Given the description of an element on the screen output the (x, y) to click on. 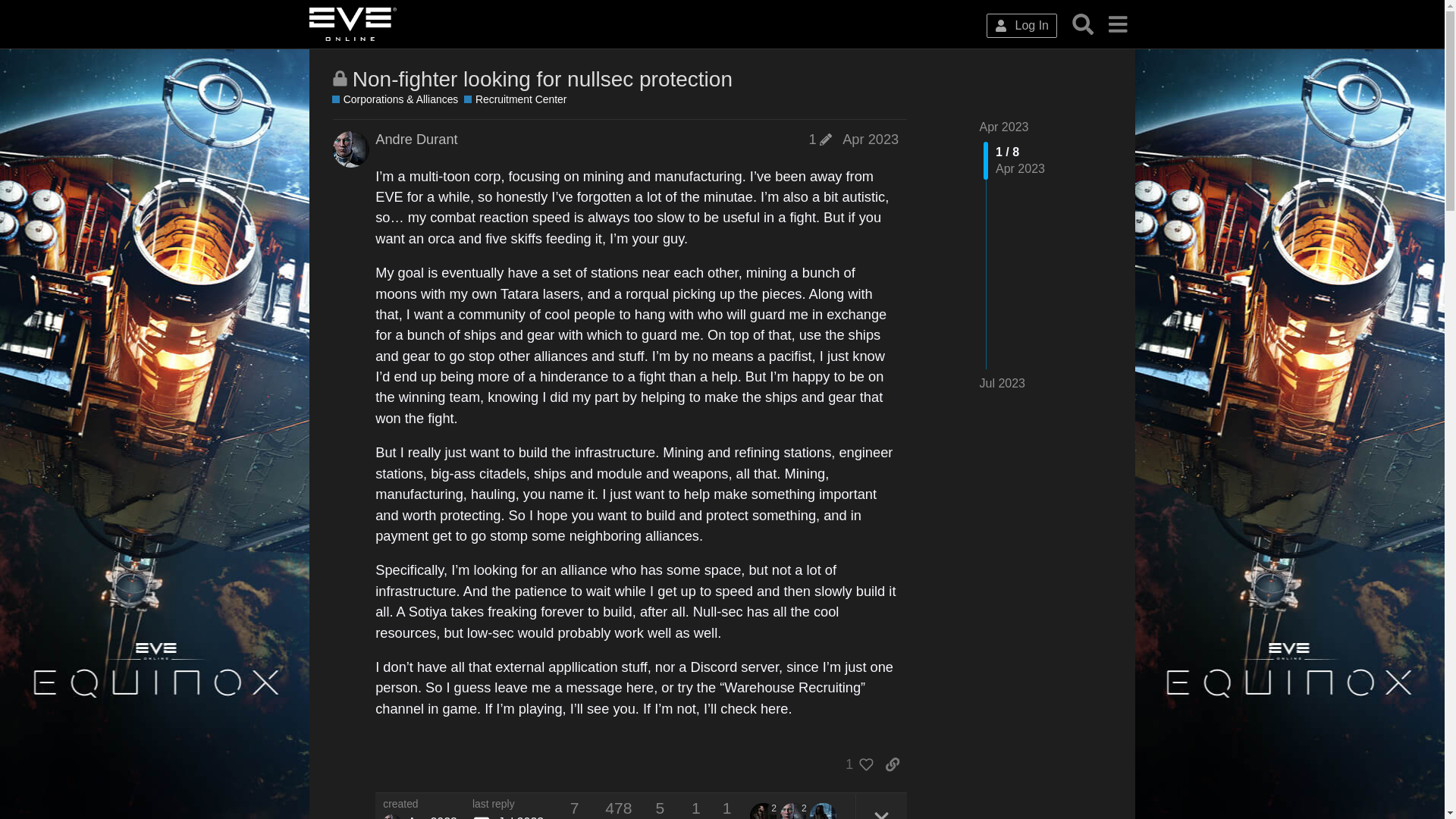
Apr 2023 (1004, 126)
Apr 2023 (870, 139)
menu (1117, 23)
Non-fighter looking for nullsec protection (542, 78)
1 (855, 764)
last reply (507, 804)
Jump to the last post (1002, 382)
2 (795, 811)
1 person liked this post (855, 764)
2 (764, 811)
Andre Durant (391, 816)
Post date (870, 139)
1 (819, 139)
Recruitment Center (515, 99)
copy a link to this post to clipboard (892, 764)
